Given the description of an element on the screen output the (x, y) to click on. 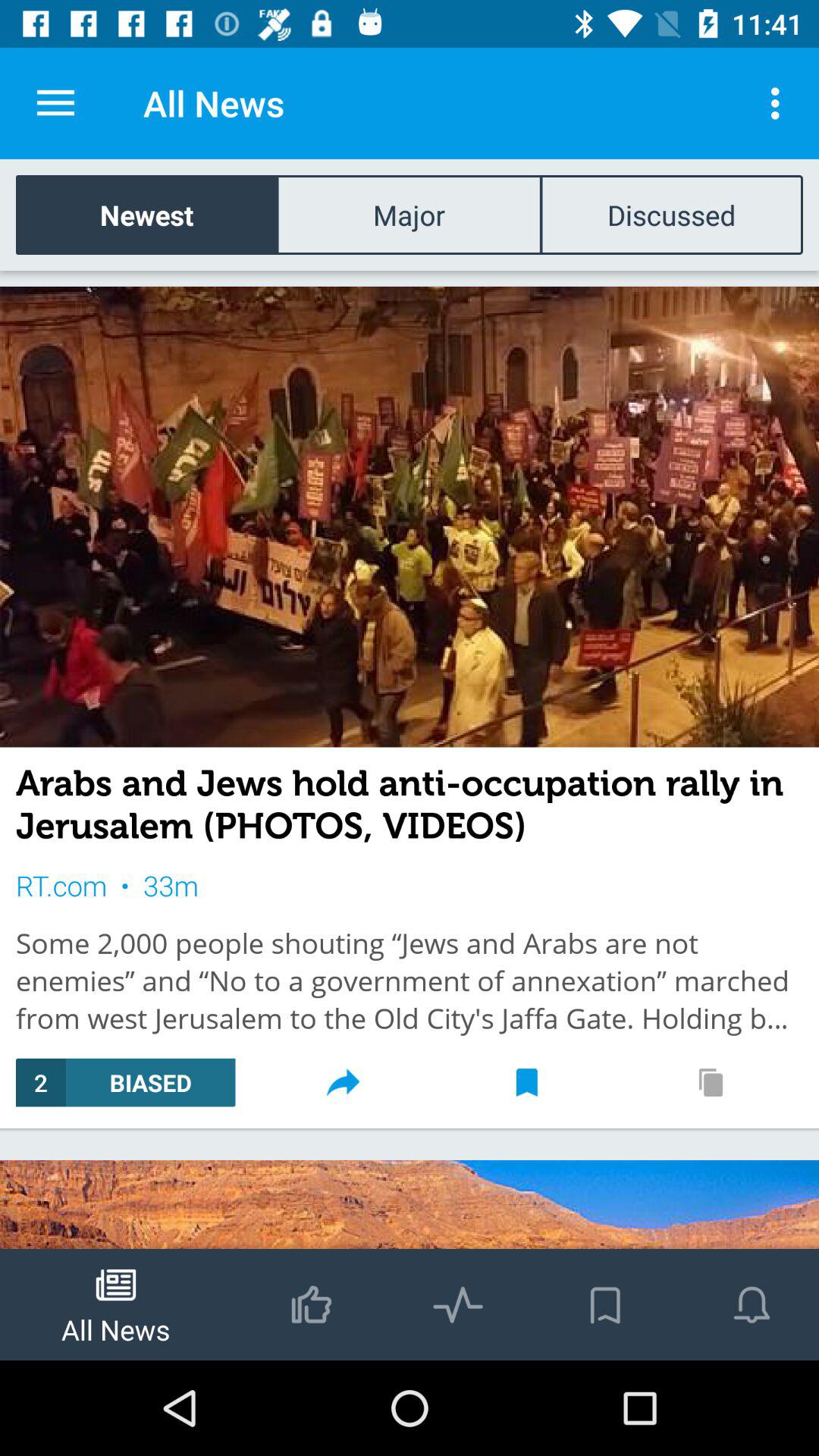
launch the item to the left of the all news item (55, 103)
